Given the description of an element on the screen output the (x, y) to click on. 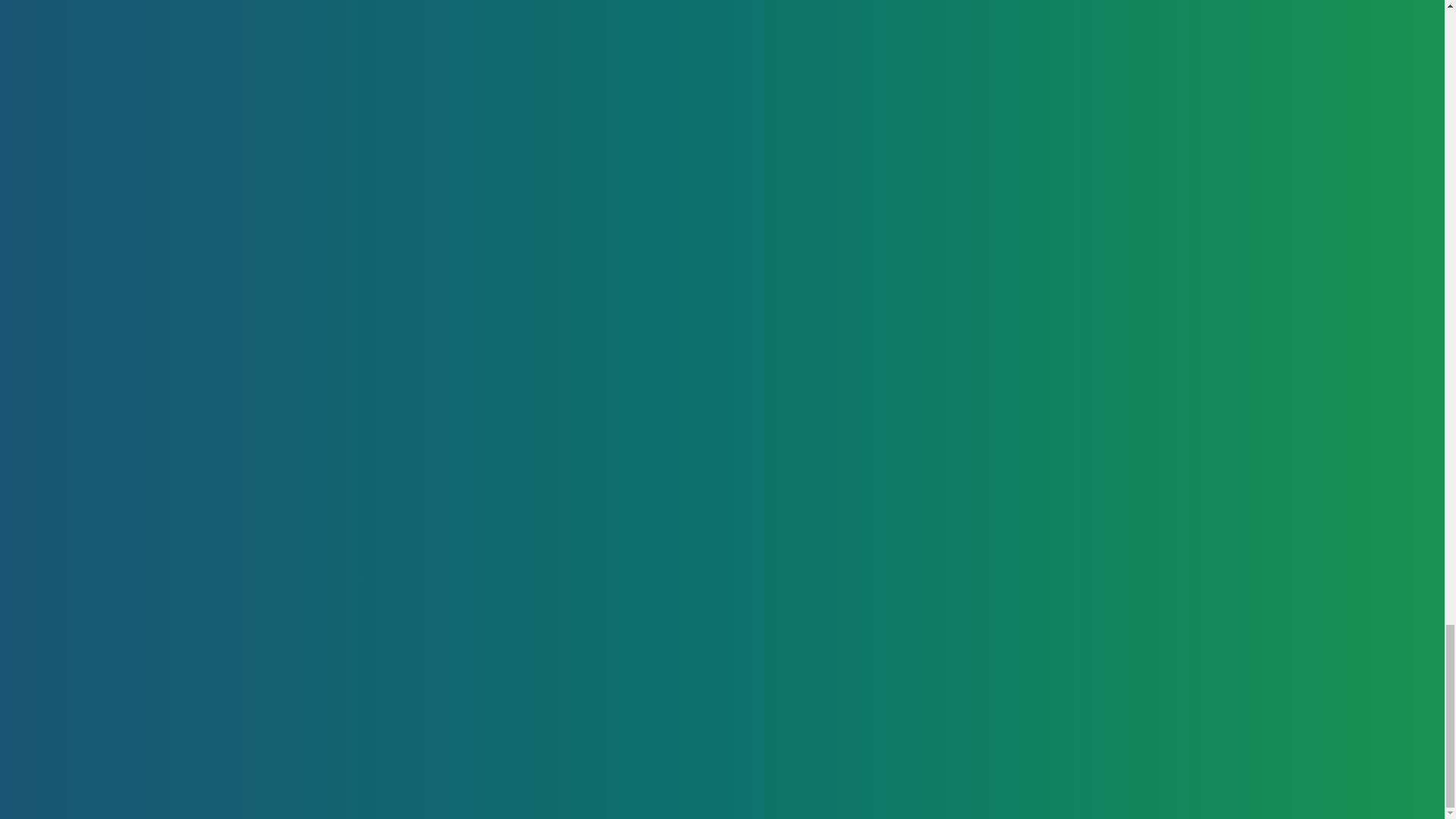
Lining (826, 685)
Drainage (835, 746)
Disclaimer (624, 746)
WeDesign UK (339, 737)
Call: 01634 961 485 (1110, 451)
Privacy Policy (634, 685)
Cookies Policy (636, 716)
